Given the description of an element on the screen output the (x, y) to click on. 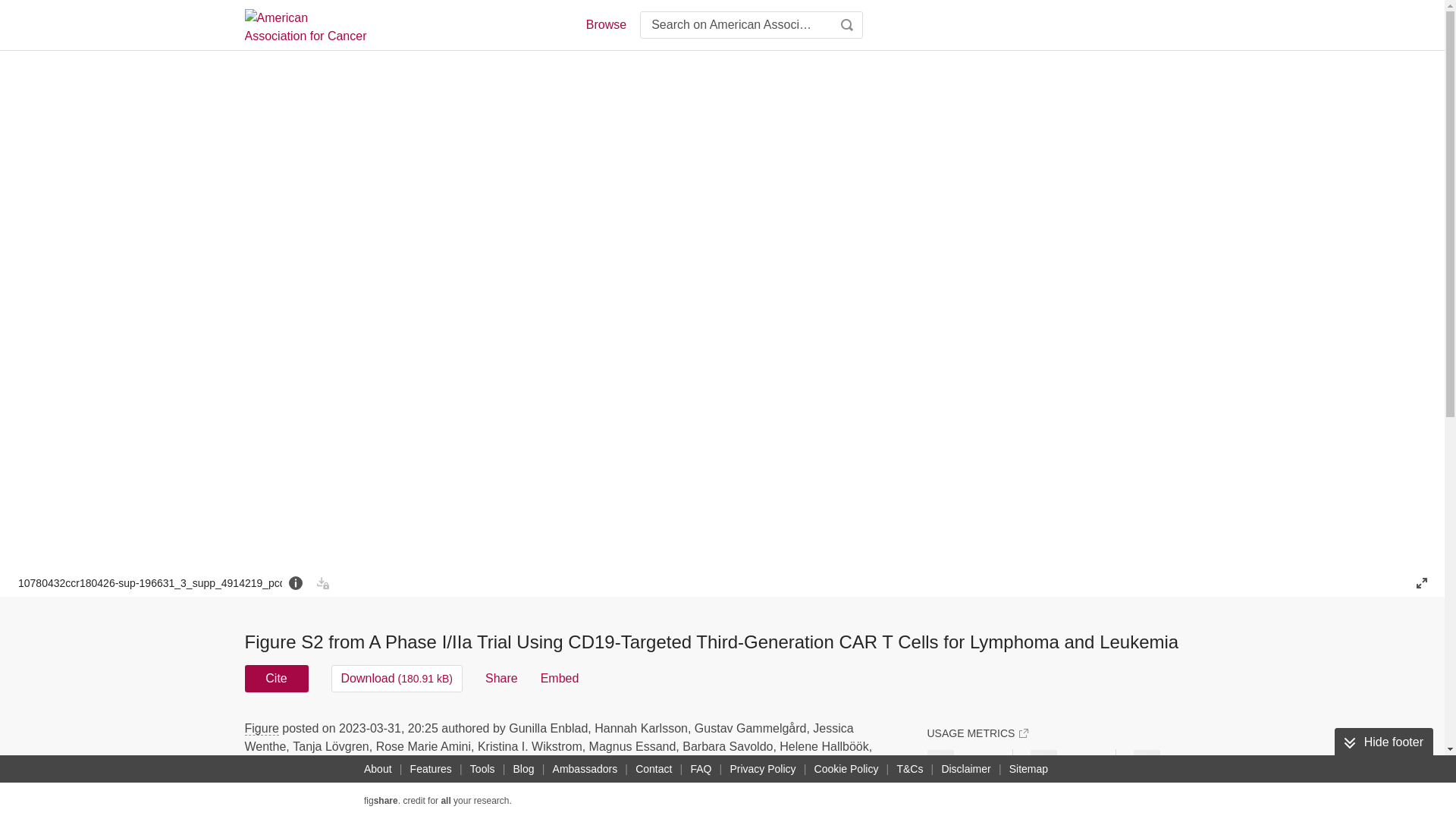
Blog (523, 769)
Cookie Policy (846, 769)
Privacy Policy (762, 769)
Embed (559, 678)
USAGE METRICS (976, 732)
Browse (605, 24)
Ambassadors (585, 769)
About (377, 769)
Cite (275, 678)
FAQ (700, 769)
Tools (482, 769)
Hide footer (1383, 742)
Features (431, 769)
Share (501, 678)
Disclaimer (965, 769)
